Given the description of an element on the screen output the (x, y) to click on. 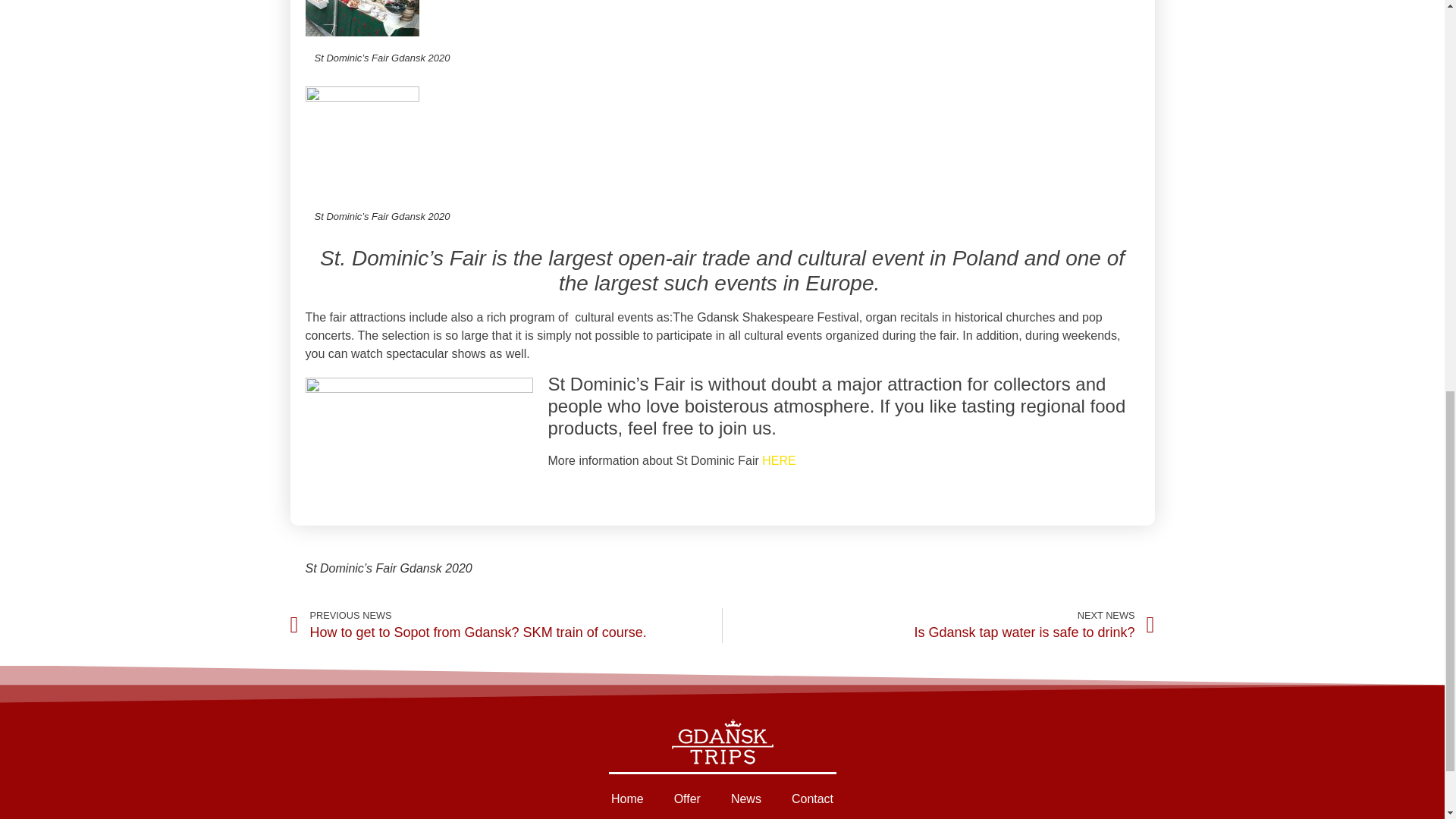
Home (627, 799)
Offer (687, 799)
News (746, 799)
Contact (812, 799)
HERE (938, 625)
